Given the description of an element on the screen output the (x, y) to click on. 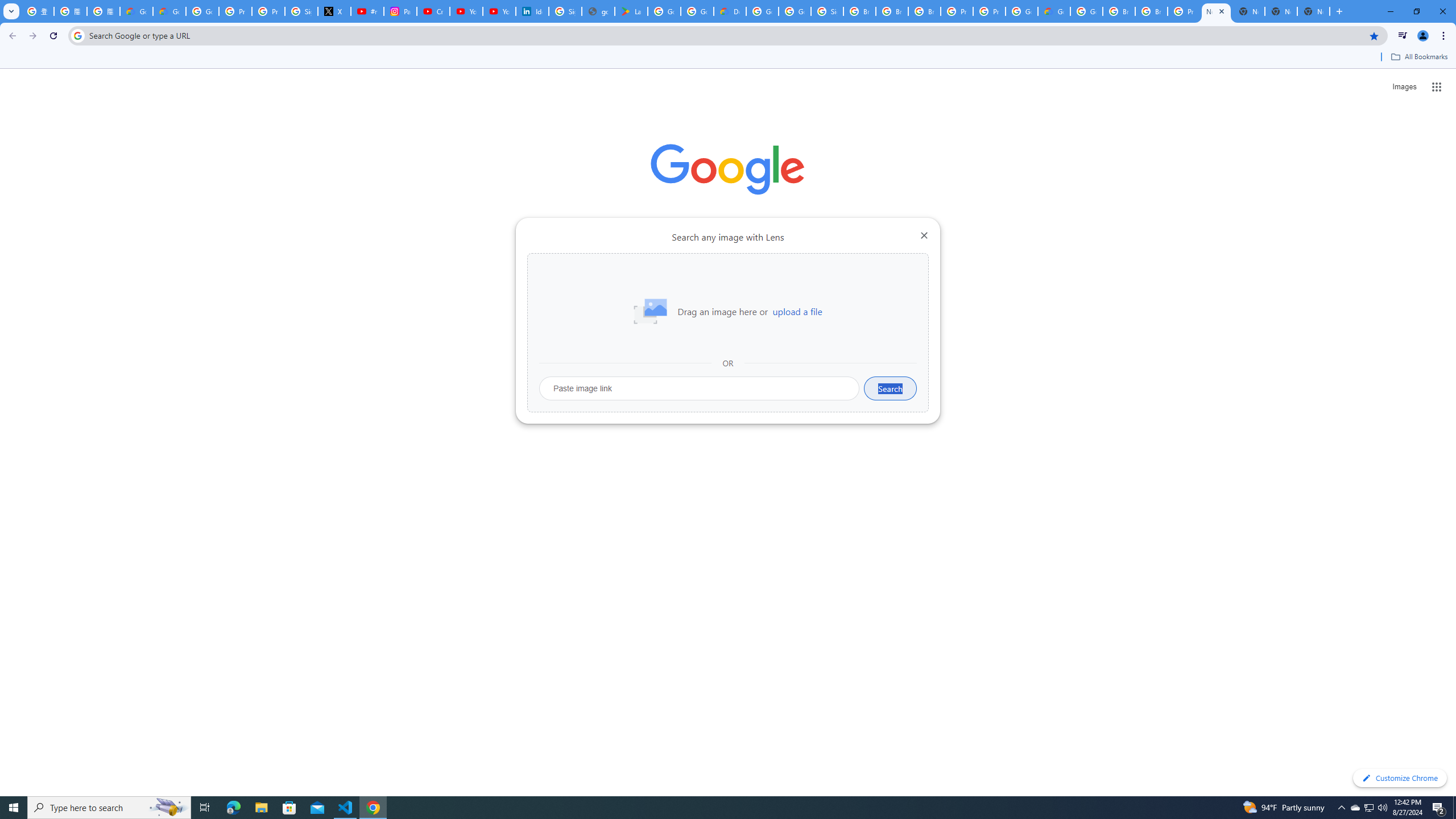
Google Workspace - Specific Terms (697, 11)
Browse Chrome as a guest - Computer - Google Chrome Help (1150, 11)
Address and search bar (725, 35)
Search (890, 388)
Customize Chrome (1399, 778)
Control your music, videos, and more (1402, 35)
Sign in - Google Accounts (301, 11)
Search for Images  (1403, 87)
New Tab (1216, 11)
